Given the description of an element on the screen output the (x, y) to click on. 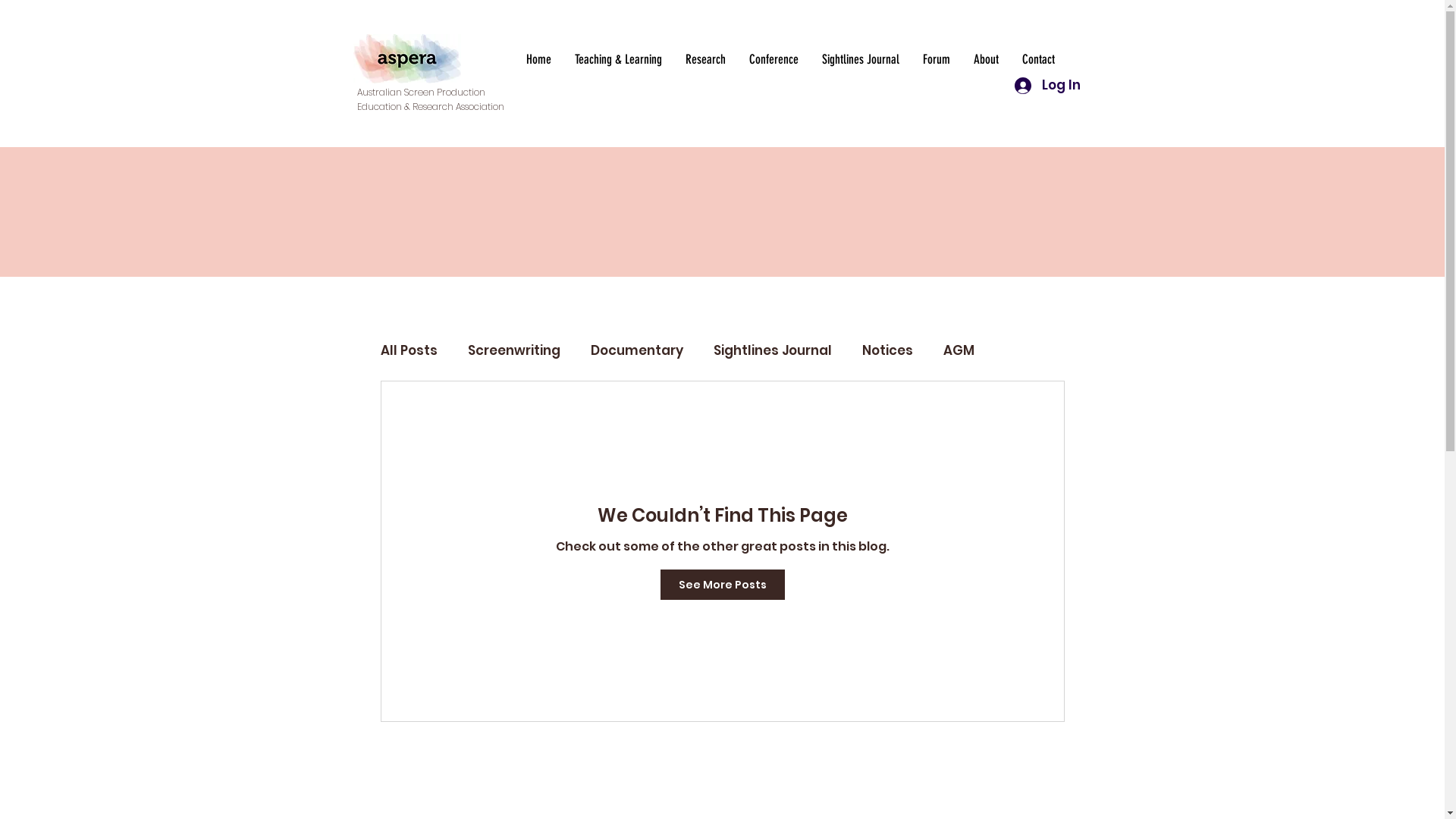
Sightlines Journal Element type: text (859, 58)
Documentary Element type: text (635, 350)
Forum Element type: text (935, 58)
Research Element type: text (705, 58)
Log In Element type: text (1047, 85)
Screenwriting Element type: text (513, 350)
Conference Element type: text (773, 58)
Home Element type: text (537, 58)
Notices Element type: text (886, 350)
About Element type: text (985, 58)
Teaching & Learning Element type: text (617, 58)
AGM Element type: text (958, 350)
Contact Element type: text (1038, 58)
All Posts Element type: text (408, 350)
Sightlines Journal Element type: text (771, 350)
See More Posts Element type: text (721, 584)
